Given the description of an element on the screen output the (x, y) to click on. 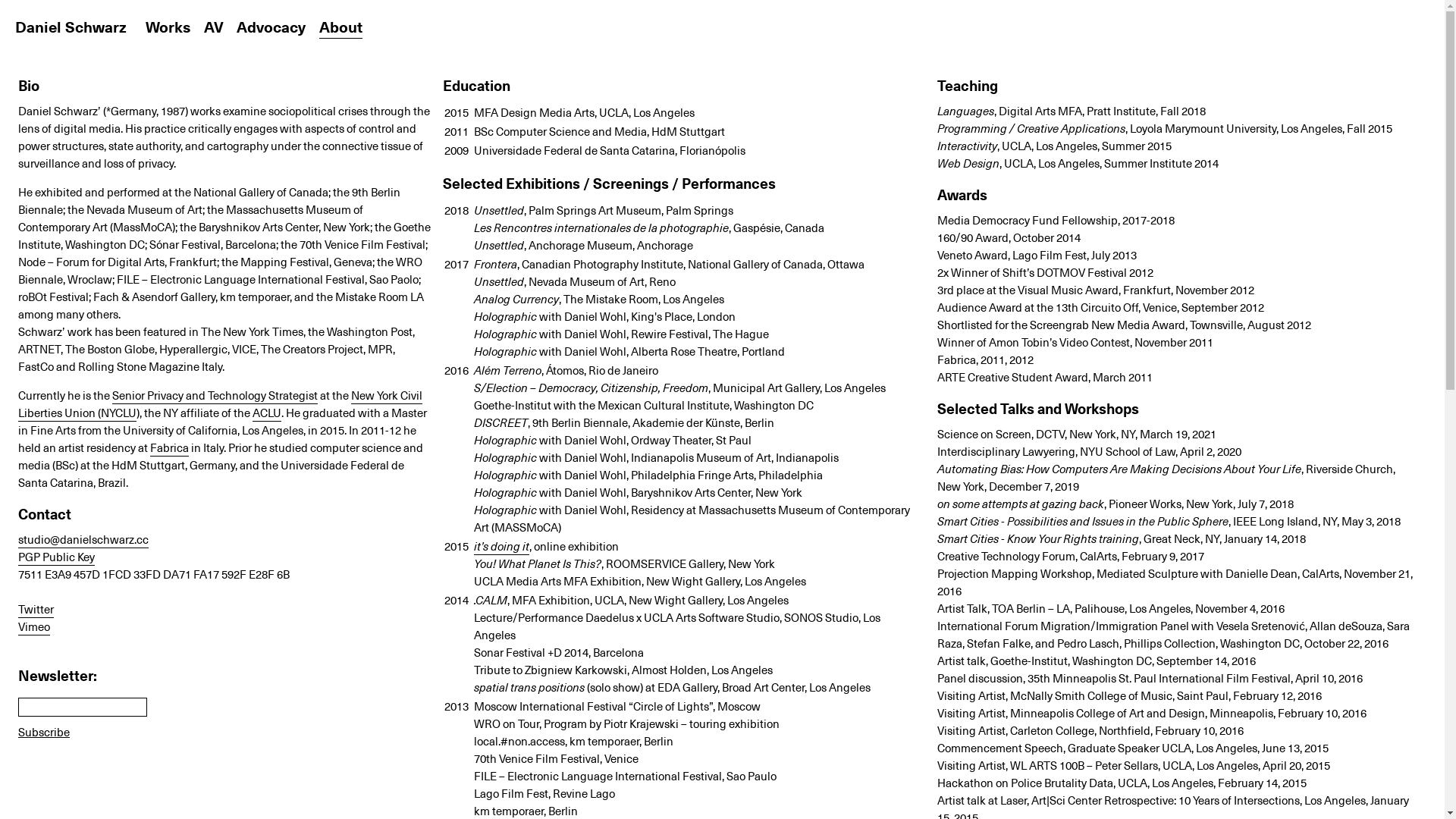
Fabrica Element type: text (169, 447)
About Element type: text (339, 26)
Advocacy Element type: text (270, 26)
Subscribe Element type: text (43, 731)
AV Element type: text (212, 26)
Daniel Schwarz Element type: text (70, 26)
Vimeo Element type: text (34, 626)
PGP Public Key Element type: text (56, 556)
Twitter Element type: text (35, 608)
Works Element type: text (167, 26)
Senior Privacy and Technology Strategist Element type: text (214, 394)
studio@danielschwarz.cc Element type: text (83, 539)
ACLU Element type: text (266, 412)
New York Civil Liberties Union (NYCLU Element type: text (220, 403)
